Given the description of an element on the screen output the (x, y) to click on. 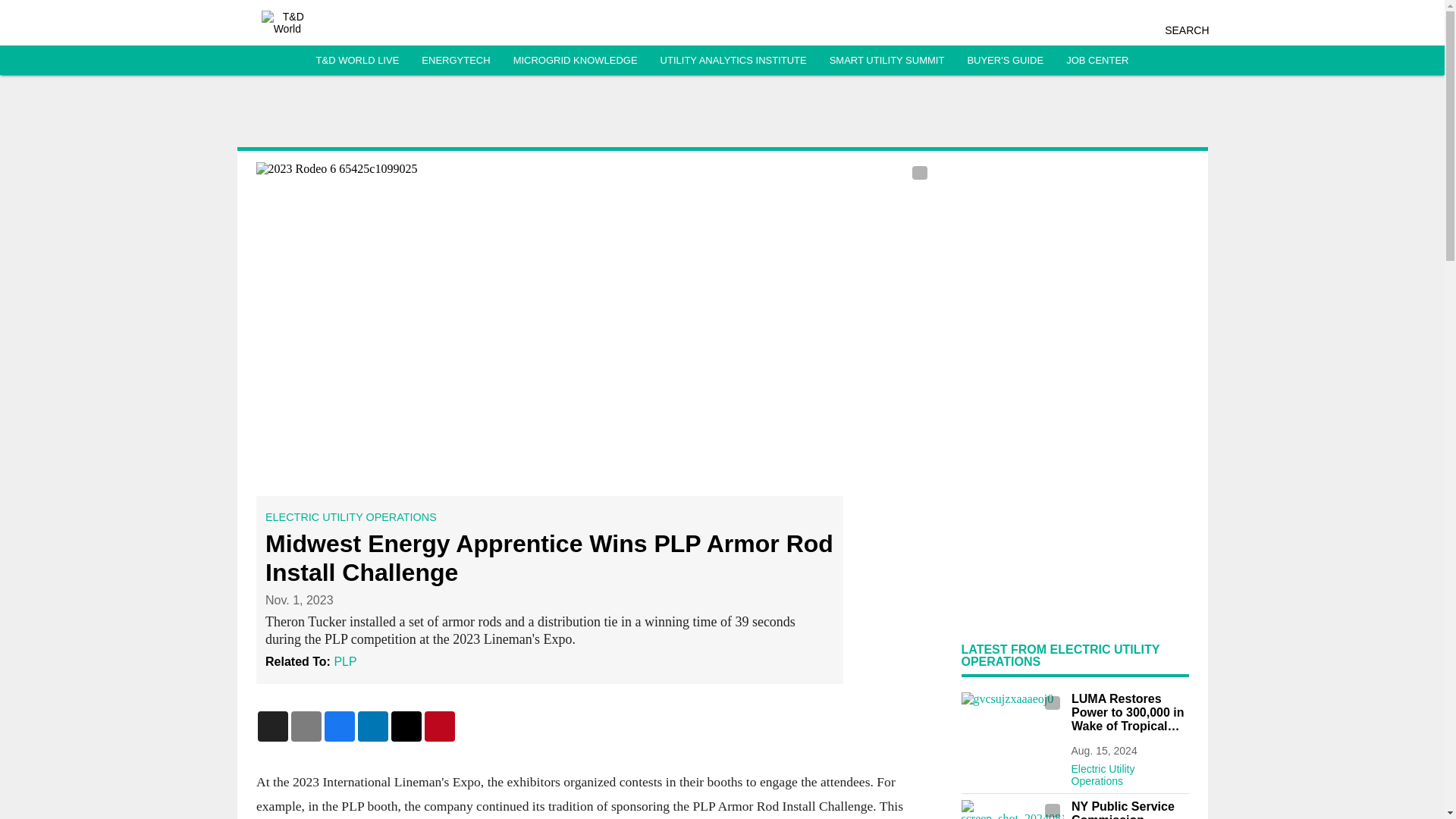
gvcsujzxaaaeoj0 (1012, 720)
PLP (344, 660)
BUYER'S GUIDE (1004, 60)
NY Public Service Commission Releases Report on Reliability (1129, 809)
UTILITY ANALYTICS INSTITUTE (733, 60)
SEARCH (1186, 30)
SMART UTILITY SUMMIT (886, 60)
MICROGRID KNOWLEDGE (575, 60)
JOB CENTER (1096, 60)
